Given the description of an element on the screen output the (x, y) to click on. 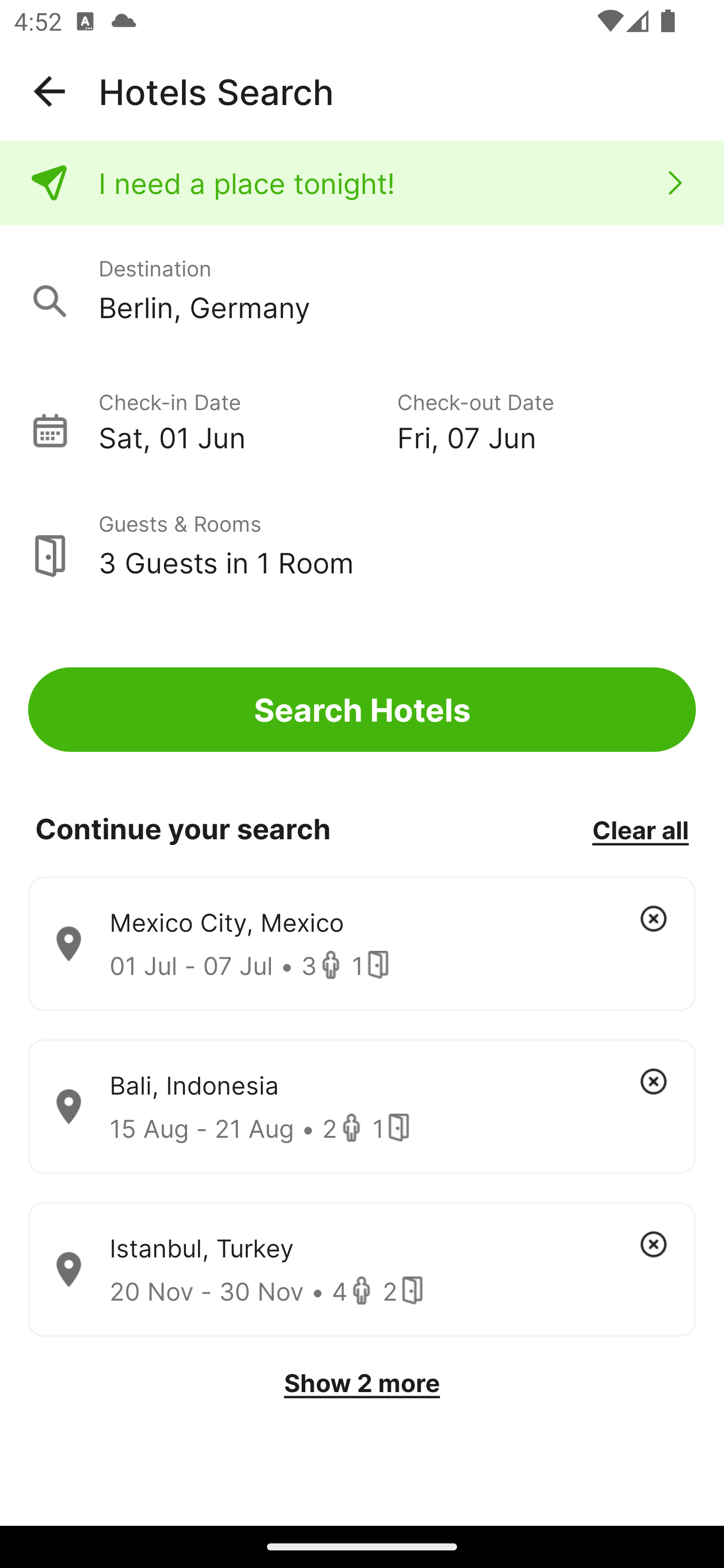
I need a place tonight! (362, 183)
Destination Berlin, Germany (362, 290)
Check-in Date Sat, 01 Jun (247, 418)
Check-out Date Fri, 07 Jun (546, 418)
Guests & Rooms 3 Guests in 1 Room (362, 545)
Search Hotels (361, 709)
Clear all (640, 829)
Mexico City, Mexico 01 Jul - 07 Jul • 3  1  (361, 943)
Bali, Indonesia 15 Aug - 21 Aug • 2  1  (361, 1106)
Istanbul, Turkey 20 Nov - 30 Nov • 4  2  (361, 1269)
Show 2 more (362, 1382)
